Given the description of an element on the screen output the (x, y) to click on. 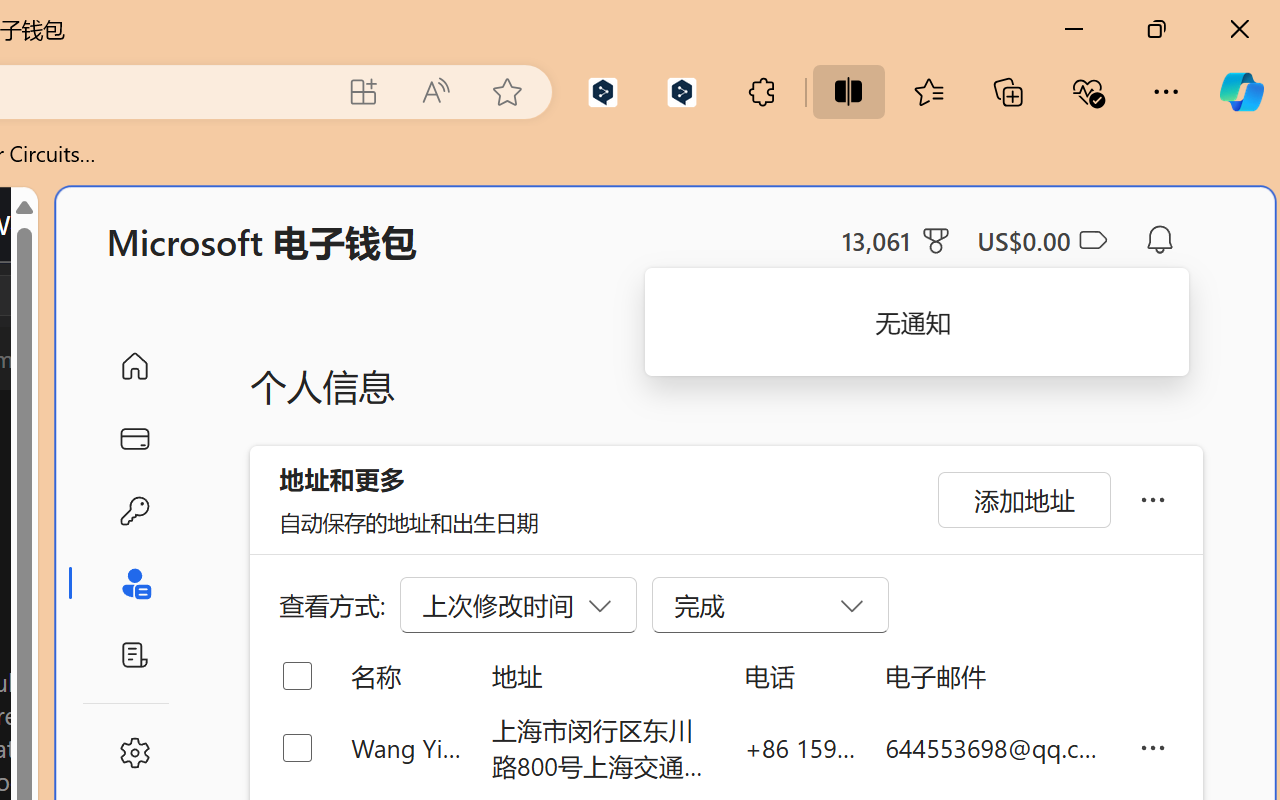
Class: ___1lmltc5 f1agt3bx f12qytpq (1092, 241)
